Given the description of an element on the screen output the (x, y) to click on. 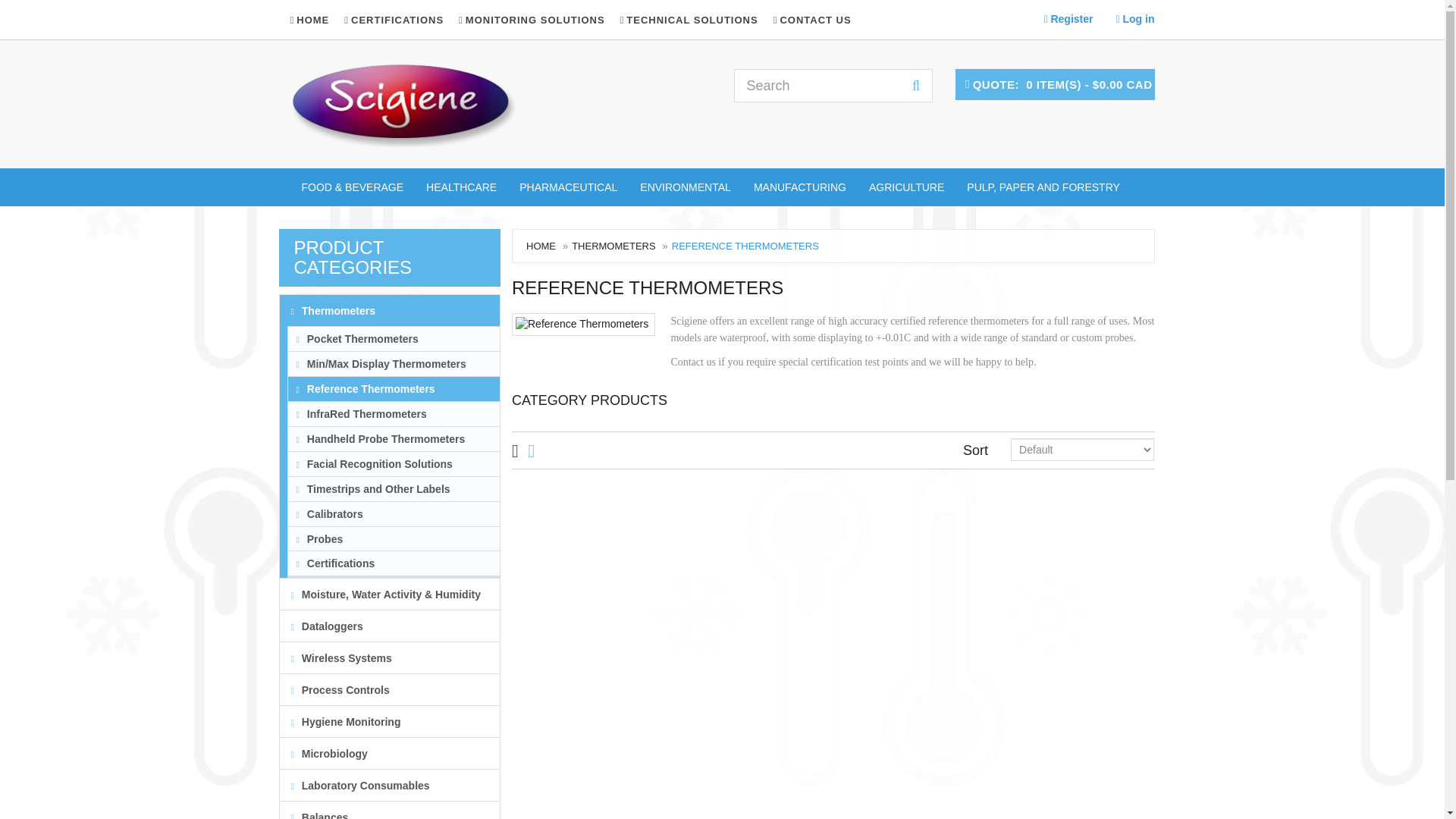
Register (1067, 18)
CERTIFICATIONS (393, 19)
ENVIRONMENTAL (685, 187)
PHARMACEUTICAL (568, 187)
Scigiene Corporation (402, 104)
HEALTHCARE (461, 187)
MONITORING SOLUTIONS (531, 19)
HOME (312, 19)
Log in (1134, 18)
MANUFACTURING (799, 187)
